Given the description of an element on the screen output the (x, y) to click on. 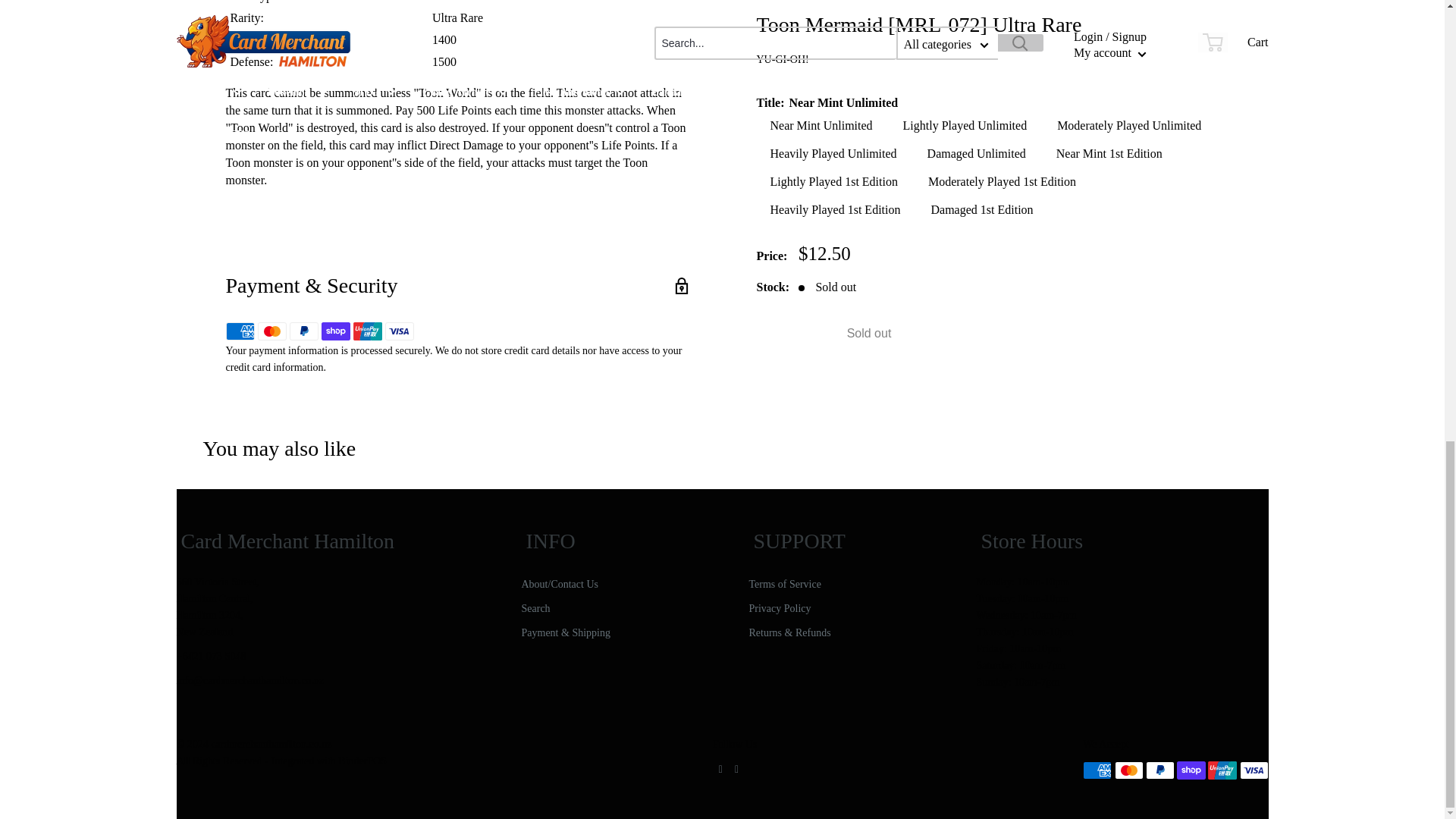
American Express (239, 331)
